Given the description of an element on the screen output the (x, y) to click on. 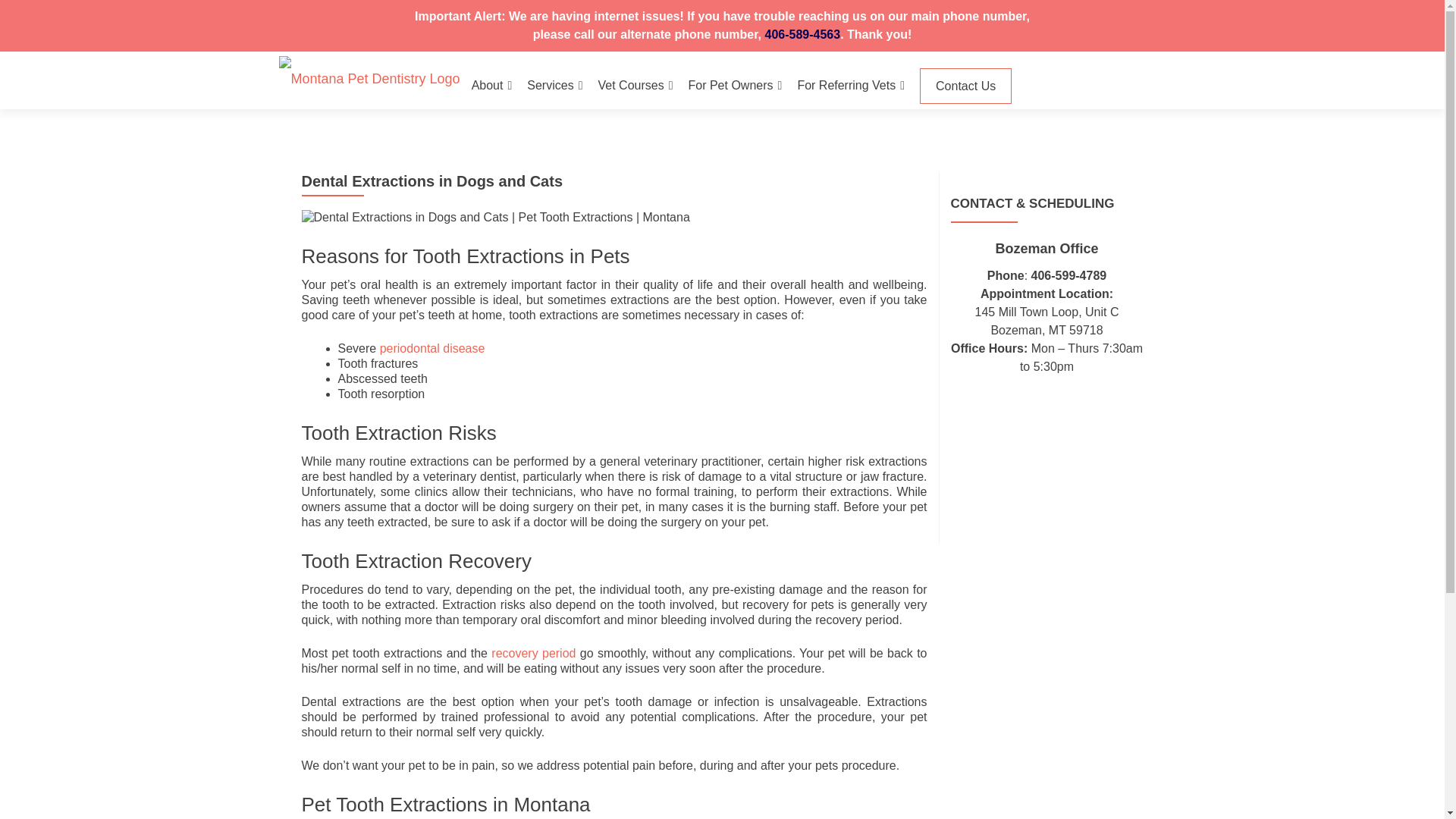
For Referring Vets (850, 85)
For Pet Owners (735, 85)
periodontal disease (432, 348)
Contact Us (965, 85)
recovery period (533, 653)
Vet Courses (634, 85)
406-589-4563 (802, 33)
Services (554, 85)
About (491, 85)
